Given the description of an element on the screen output the (x, y) to click on. 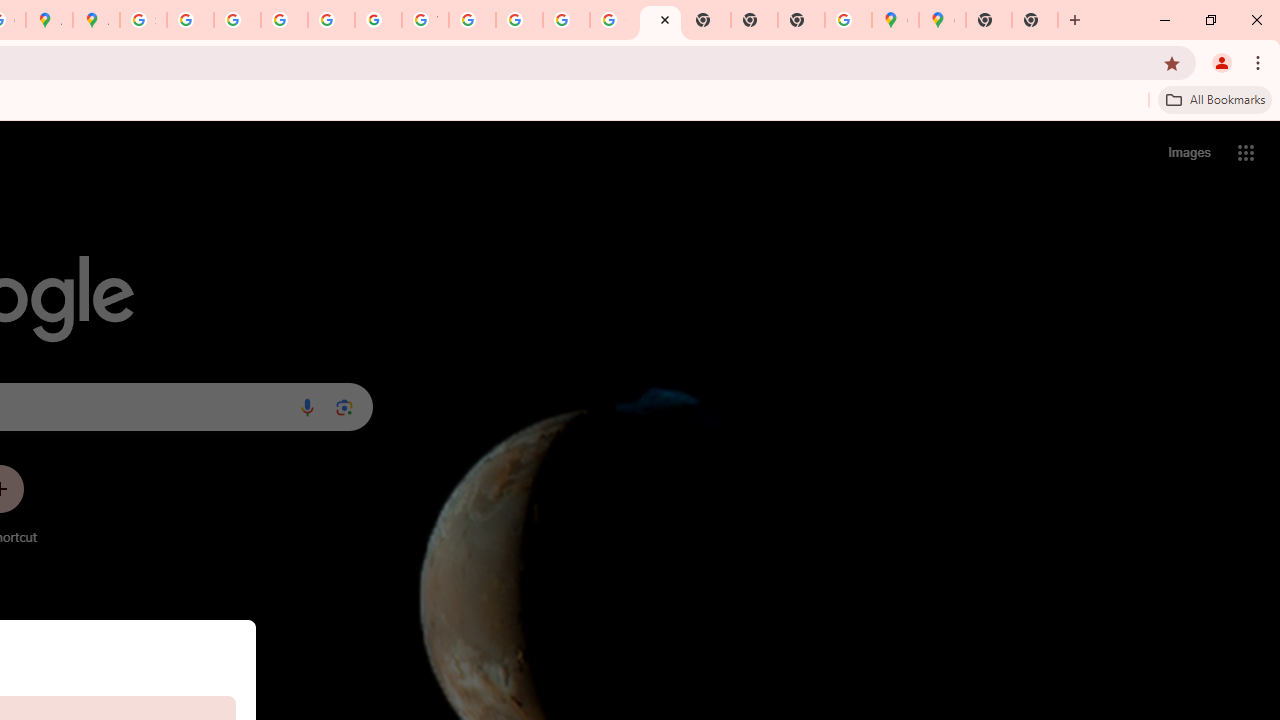
New Tab (801, 20)
Google Maps (895, 20)
YouTube (425, 20)
Google Maps (942, 20)
Privacy Help Center - Policies Help (237, 20)
